Given the description of an element on the screen output the (x, y) to click on. 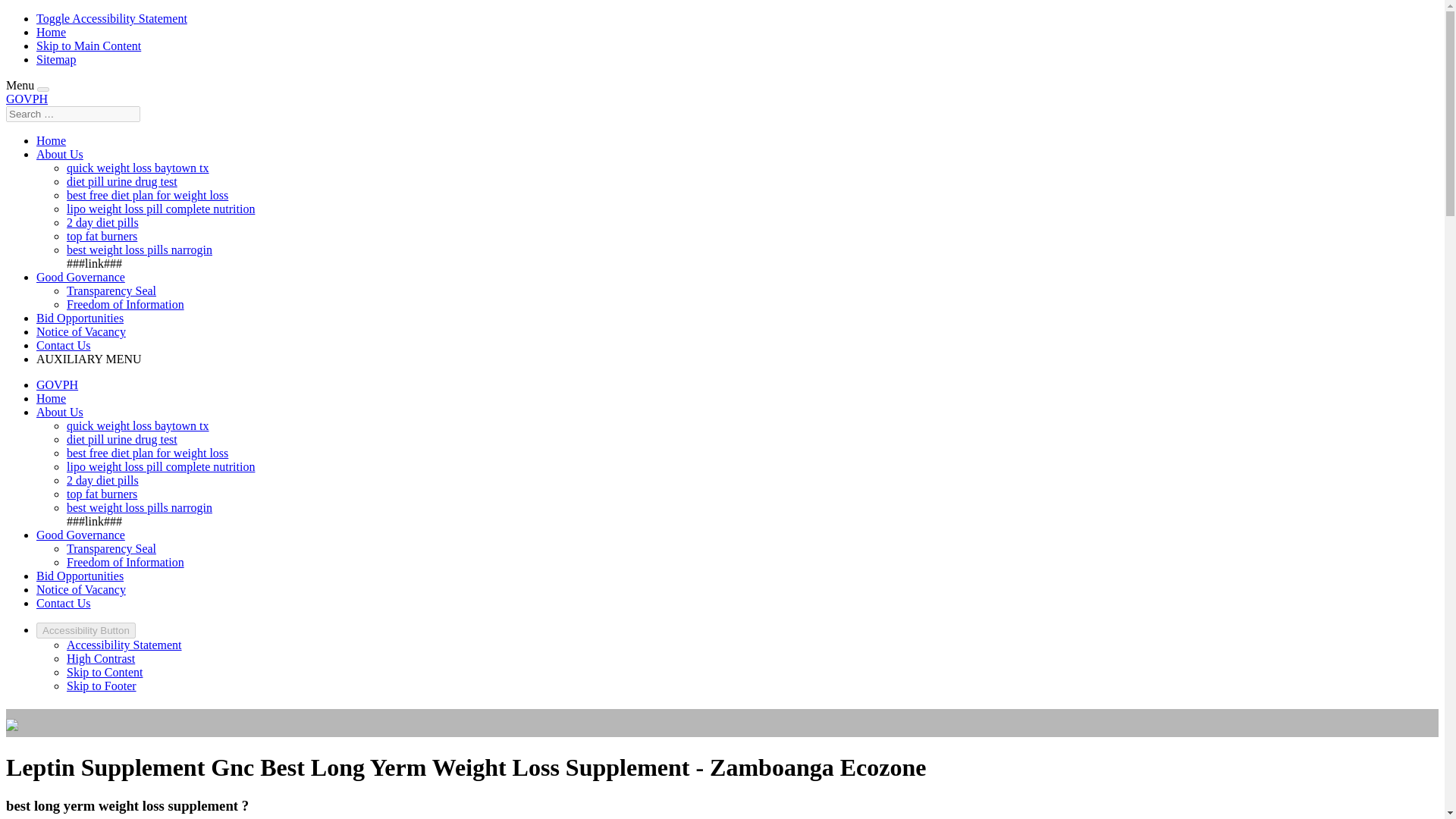
Freedom of Information (125, 562)
quick weight loss baytown tx (137, 167)
Good Governance (80, 534)
2 day diet pills (102, 480)
Transparency Seal (110, 548)
Skip to Main Content (88, 45)
Notice of Vacancy (80, 331)
Home (50, 140)
diet pill urine drug test (121, 181)
Bid Opportunities (79, 318)
